Given the description of an element on the screen output the (x, y) to click on. 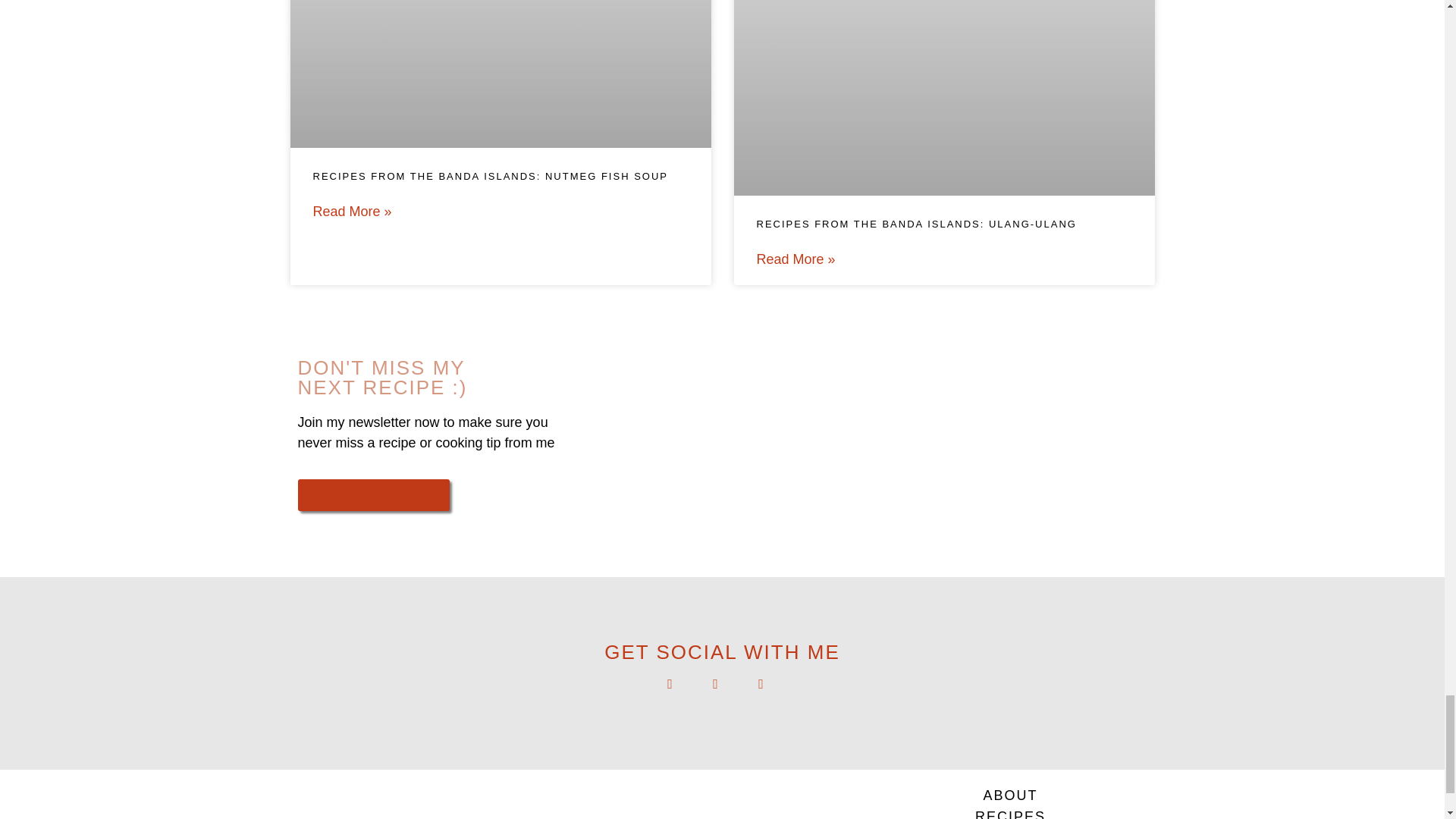
RECIPES FROM THE BANDA ISLANDS: NUTMEG FISH SOUP (490, 175)
